Given the description of an element on the screen output the (x, y) to click on. 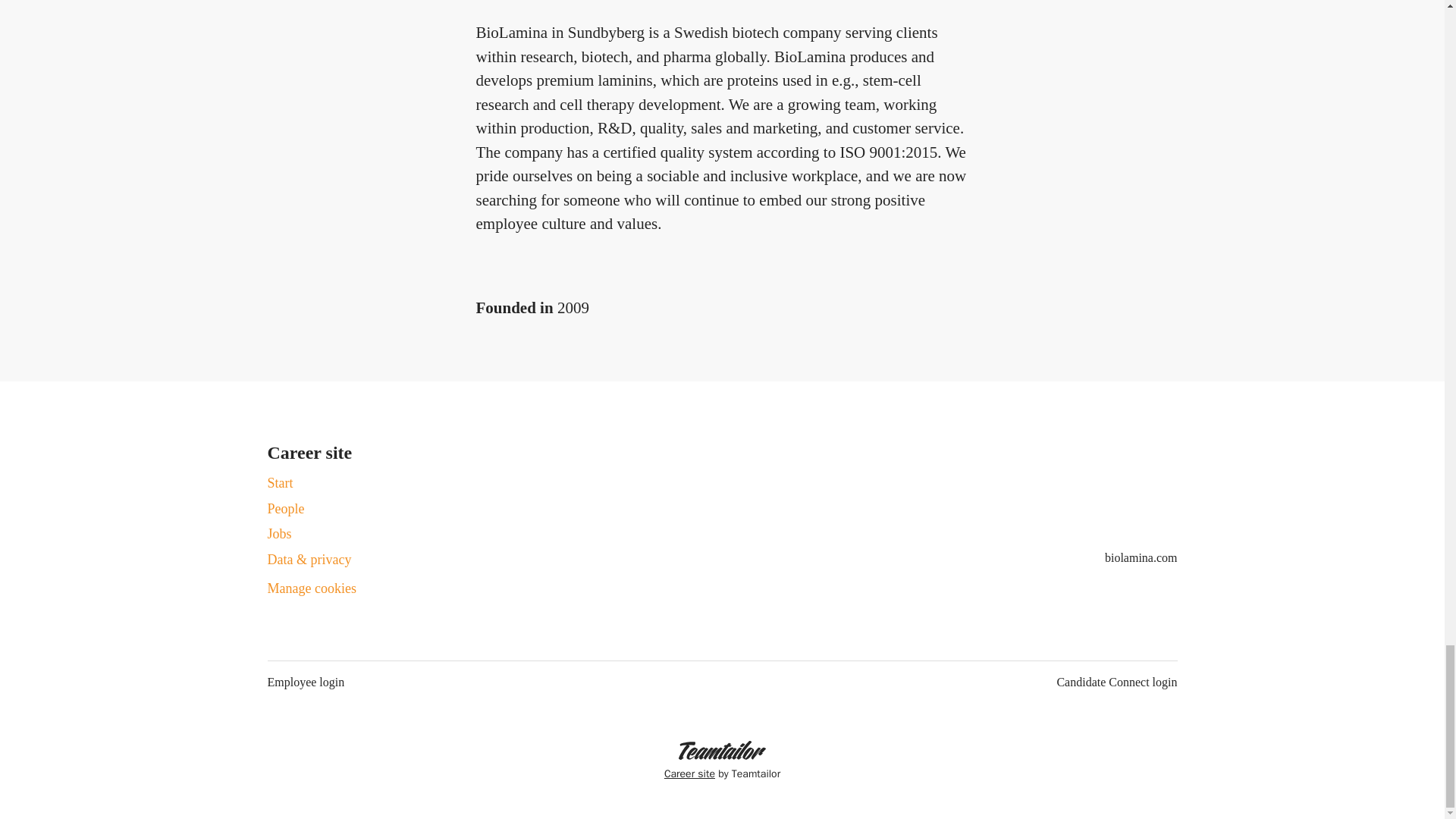
Career site by Teamtailor (722, 760)
Manage cookies (310, 589)
Start (279, 482)
biolamina.com (1141, 558)
Candidate Connect login (1116, 682)
Jobs (278, 533)
People (285, 508)
Employee login (304, 682)
